Given the description of an element on the screen output the (x, y) to click on. 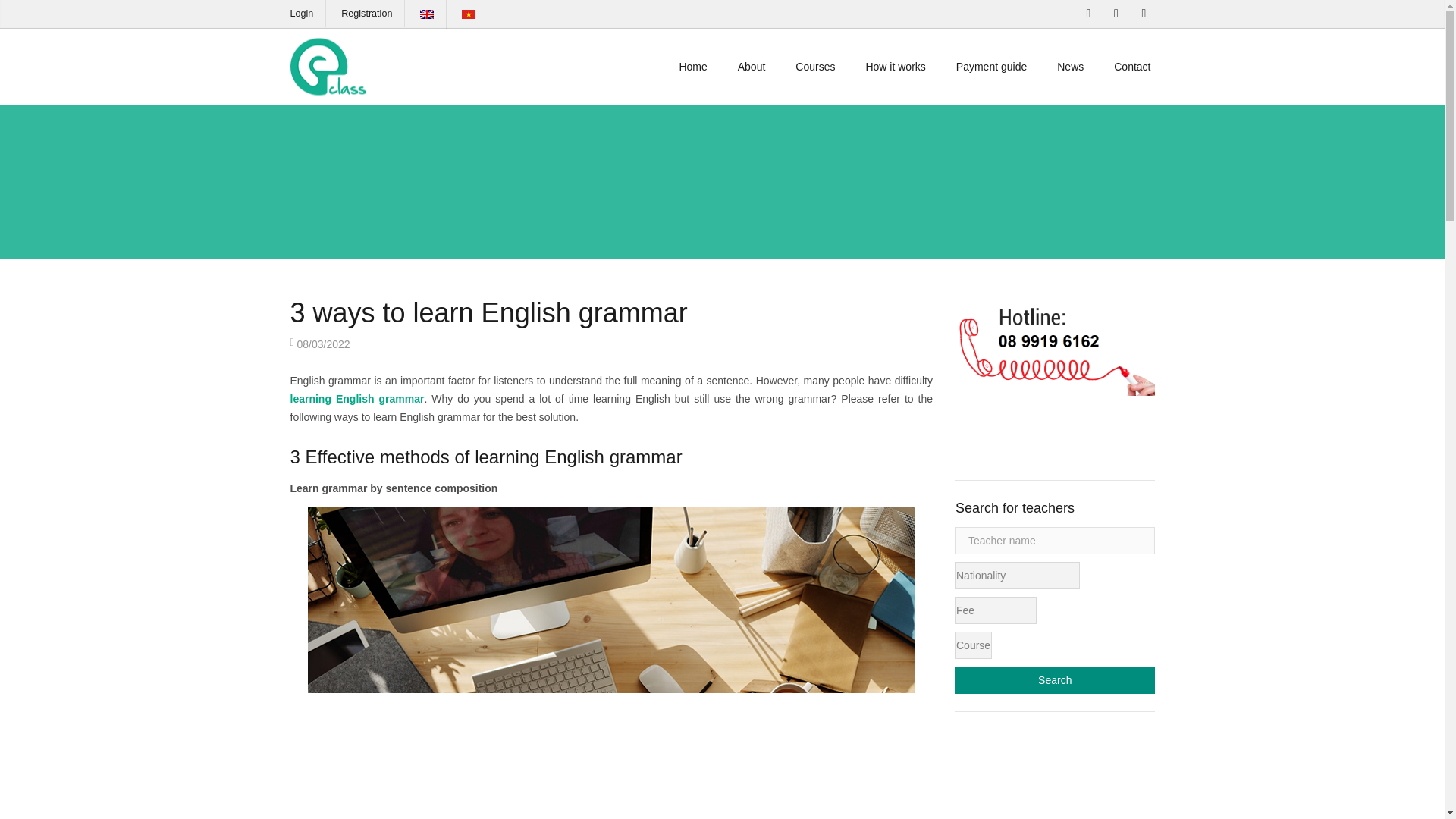
Payment guide (991, 66)
Courses (815, 66)
Search (1054, 679)
Login (301, 13)
Registration (365, 13)
learning English grammar (356, 398)
How it works (895, 66)
English (426, 13)
Search (1054, 679)
